Given the description of an element on the screen output the (x, y) to click on. 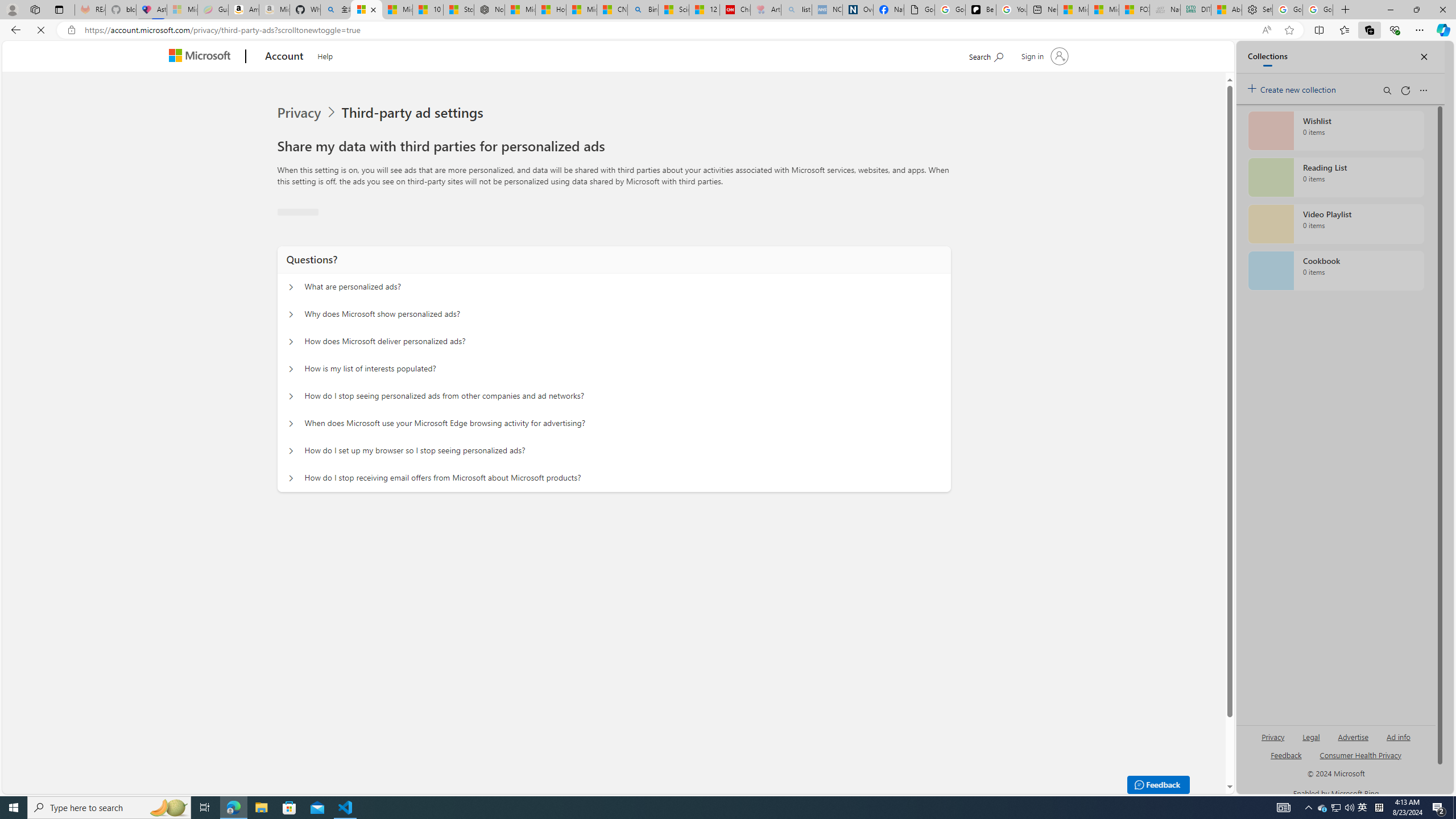
Be Smart | creating Science videos | Patreon (980, 9)
AutomationID: genId96 (1285, 759)
Google Analytics Opt-out Browser Add-on Download Page (919, 9)
CNN - MSN (611, 9)
FOX News - MSN (1133, 9)
AutomationID: sb_feedback (1286, 754)
Account (283, 56)
